Given the description of an element on the screen output the (x, y) to click on. 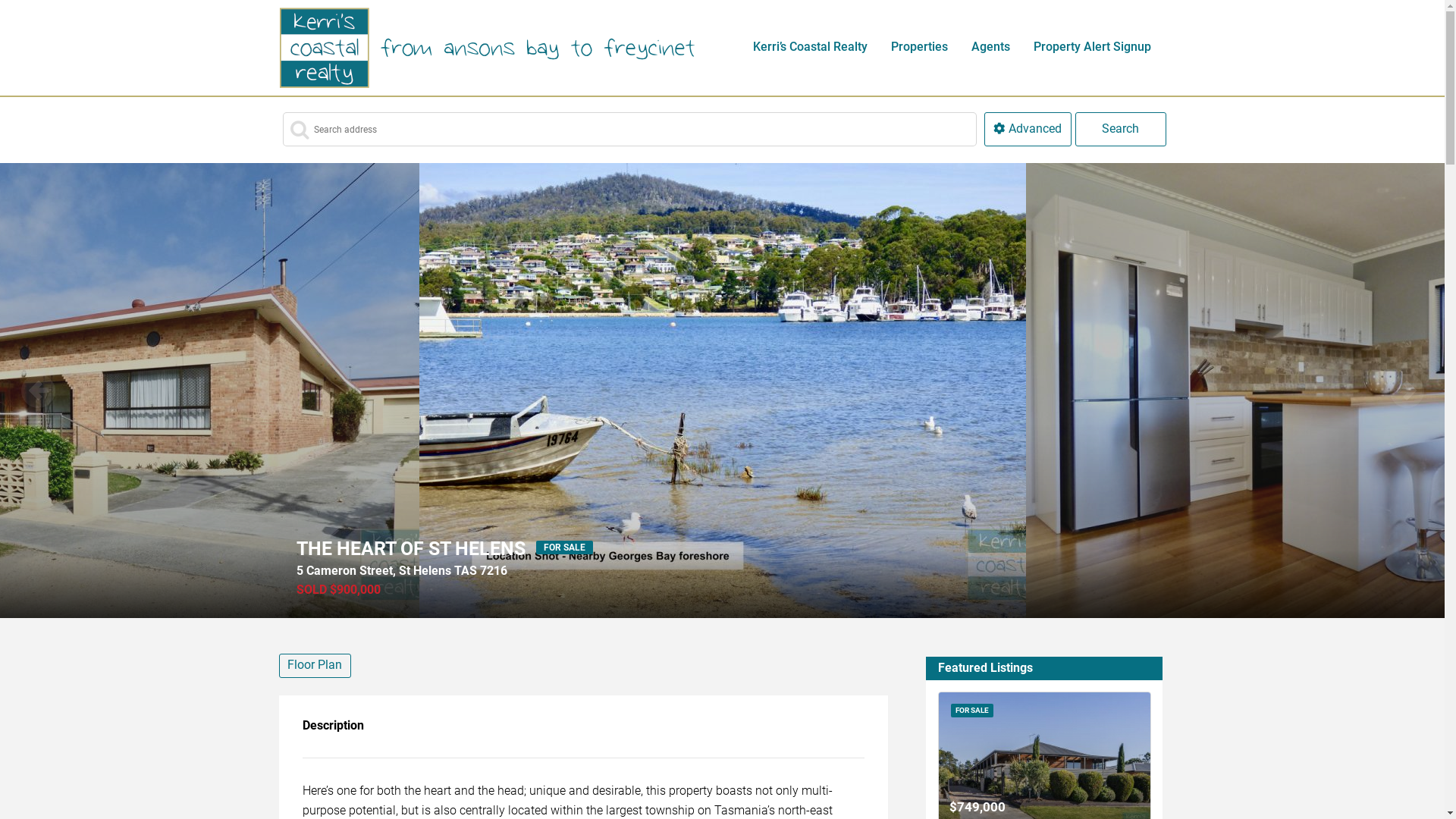
Properties Element type: text (919, 47)
Search Element type: text (1120, 129)
Next Element type: text (1406, 390)
Agents Element type: text (991, 47)
Previous Element type: text (37, 390)
Floor Plan Element type: text (315, 665)
Property Alert Signup Element type: text (1092, 47)
Advanced Element type: text (1027, 129)
